Given the description of an element on the screen output the (x, y) to click on. 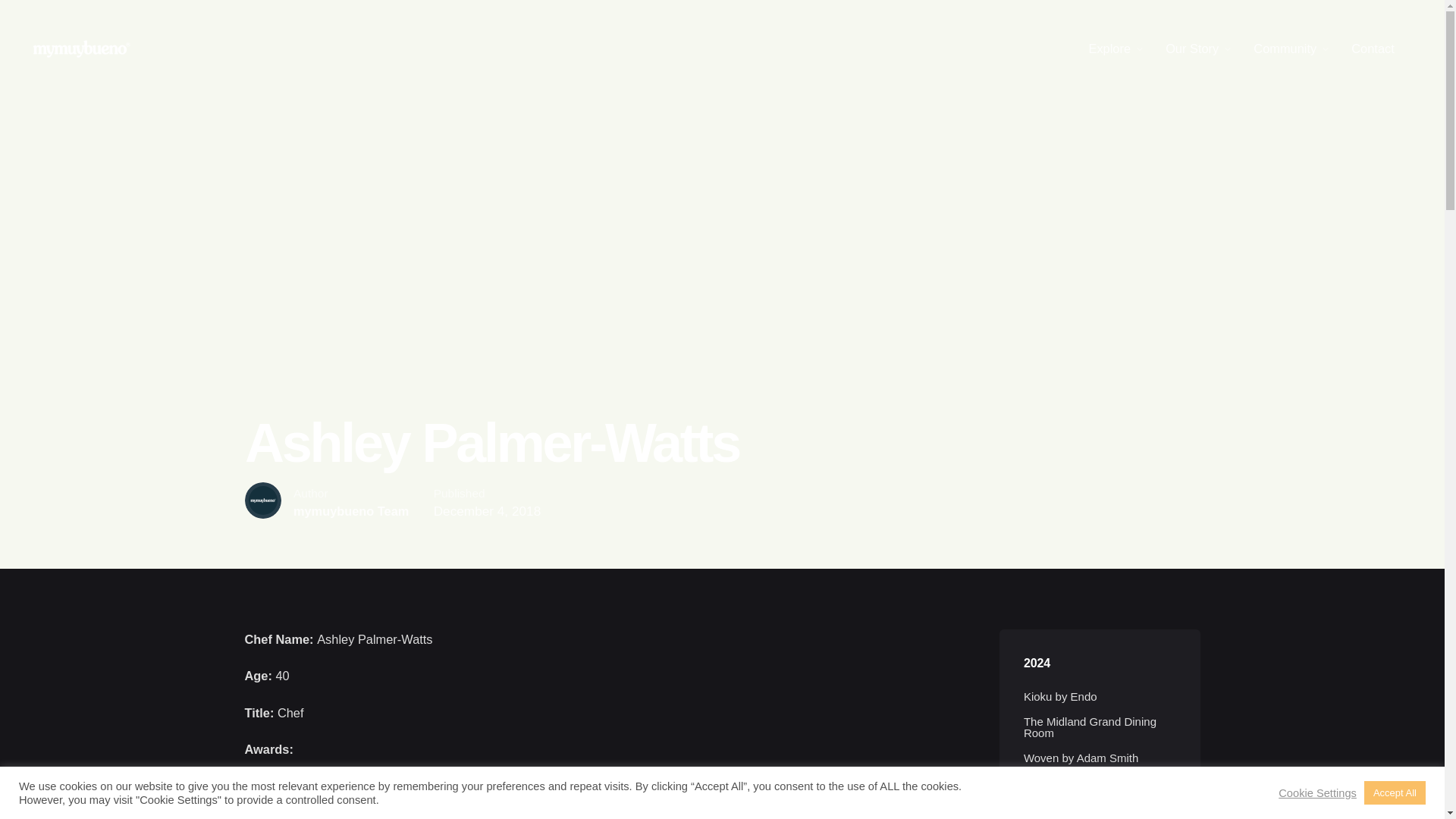
Contact (1372, 49)
Community (1284, 49)
Explore (1109, 49)
Our Story (1192, 49)
